Given the description of an element on the screen output the (x, y) to click on. 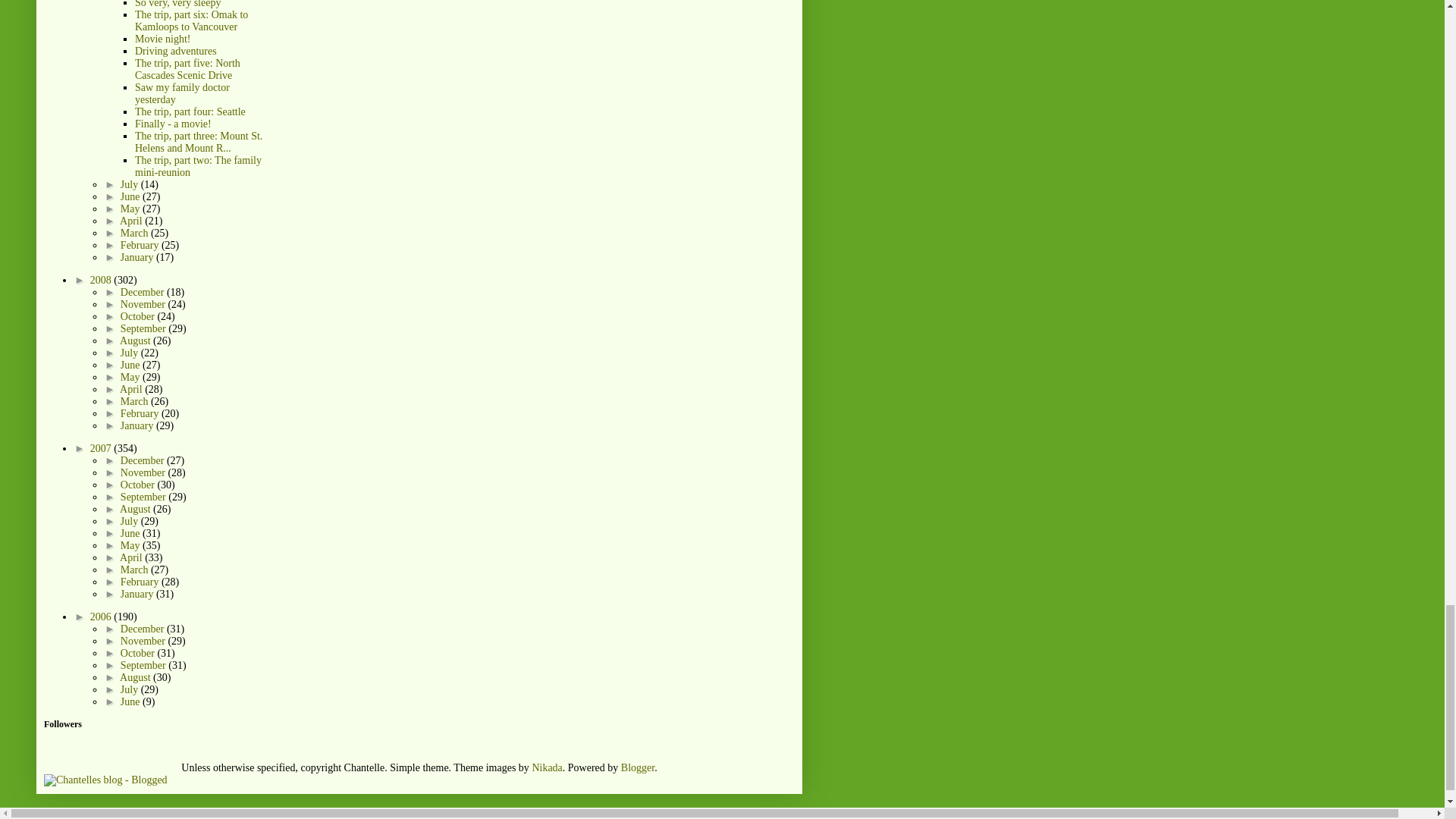
Chantelles blog - Blogged (105, 779)
